Given the description of an element on the screen output the (x, y) to click on. 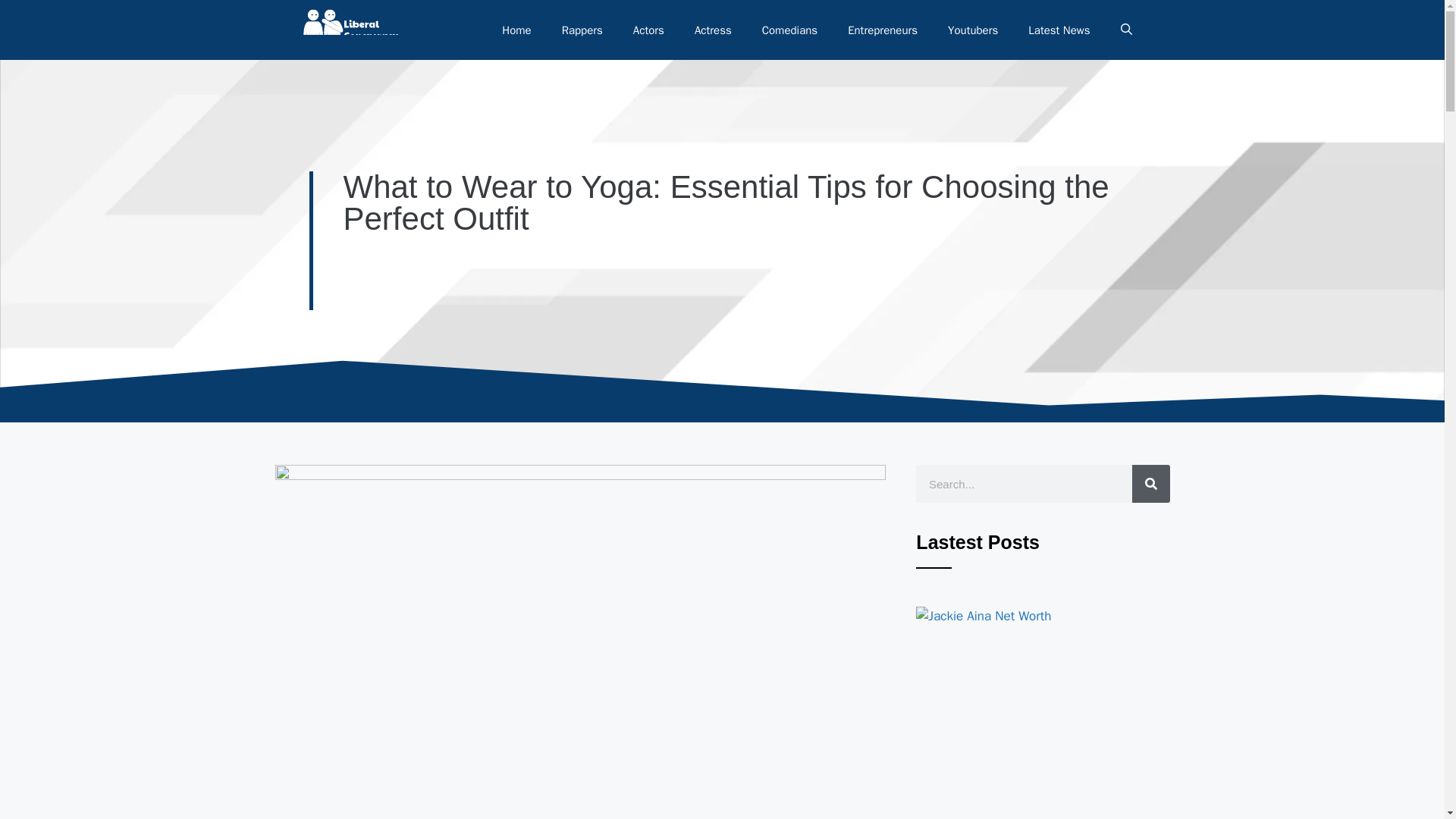
Home (516, 30)
Actress (712, 30)
Actors (648, 30)
Latest News (1059, 30)
Rappers (582, 30)
Comedians (789, 30)
Liberal Conspiracy (349, 29)
Entrepreneurs (882, 30)
Youtubers (973, 30)
